Given the description of an element on the screen output the (x, y) to click on. 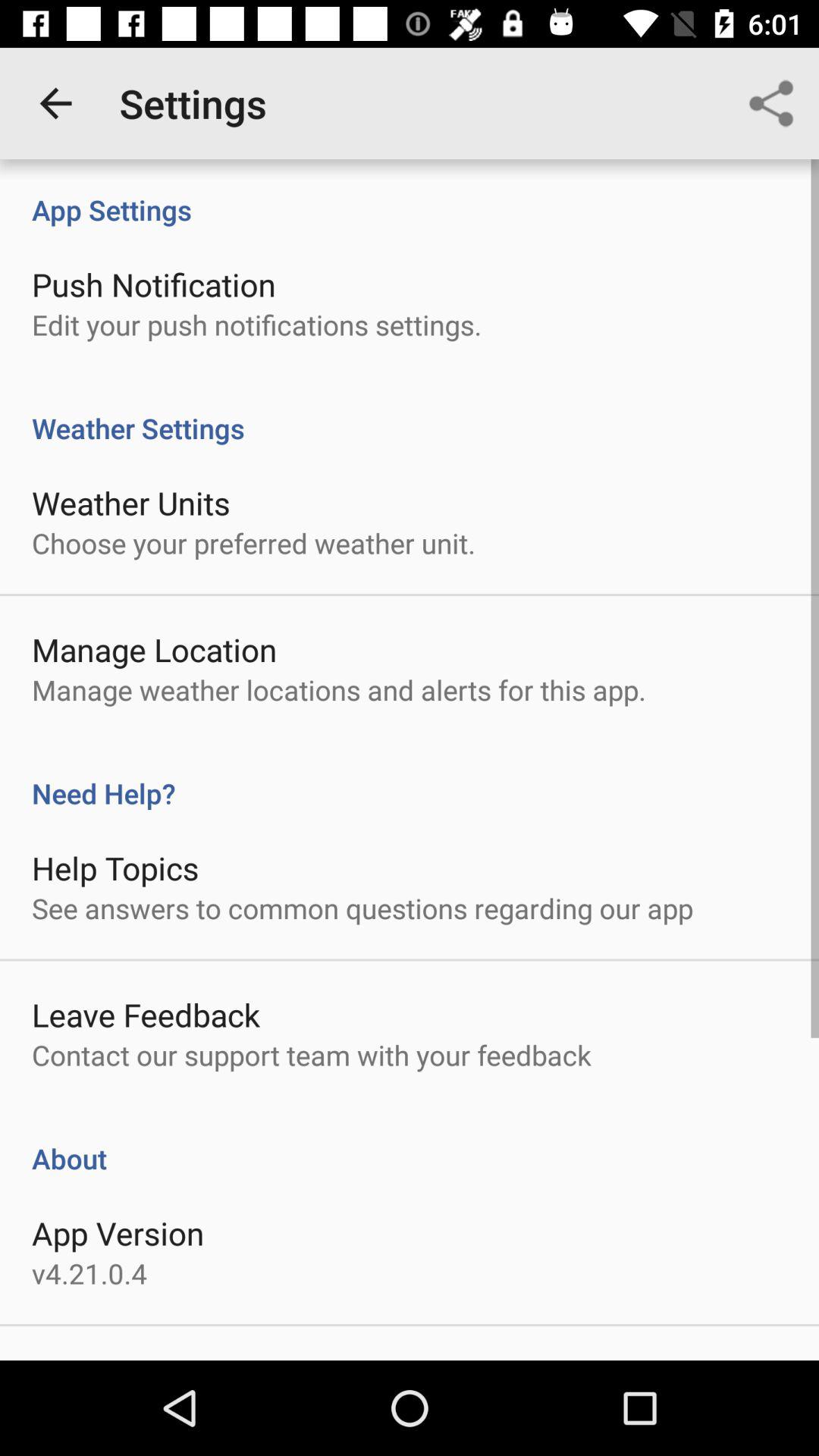
choose item below weather units (253, 542)
